Given the description of an element on the screen output the (x, y) to click on. 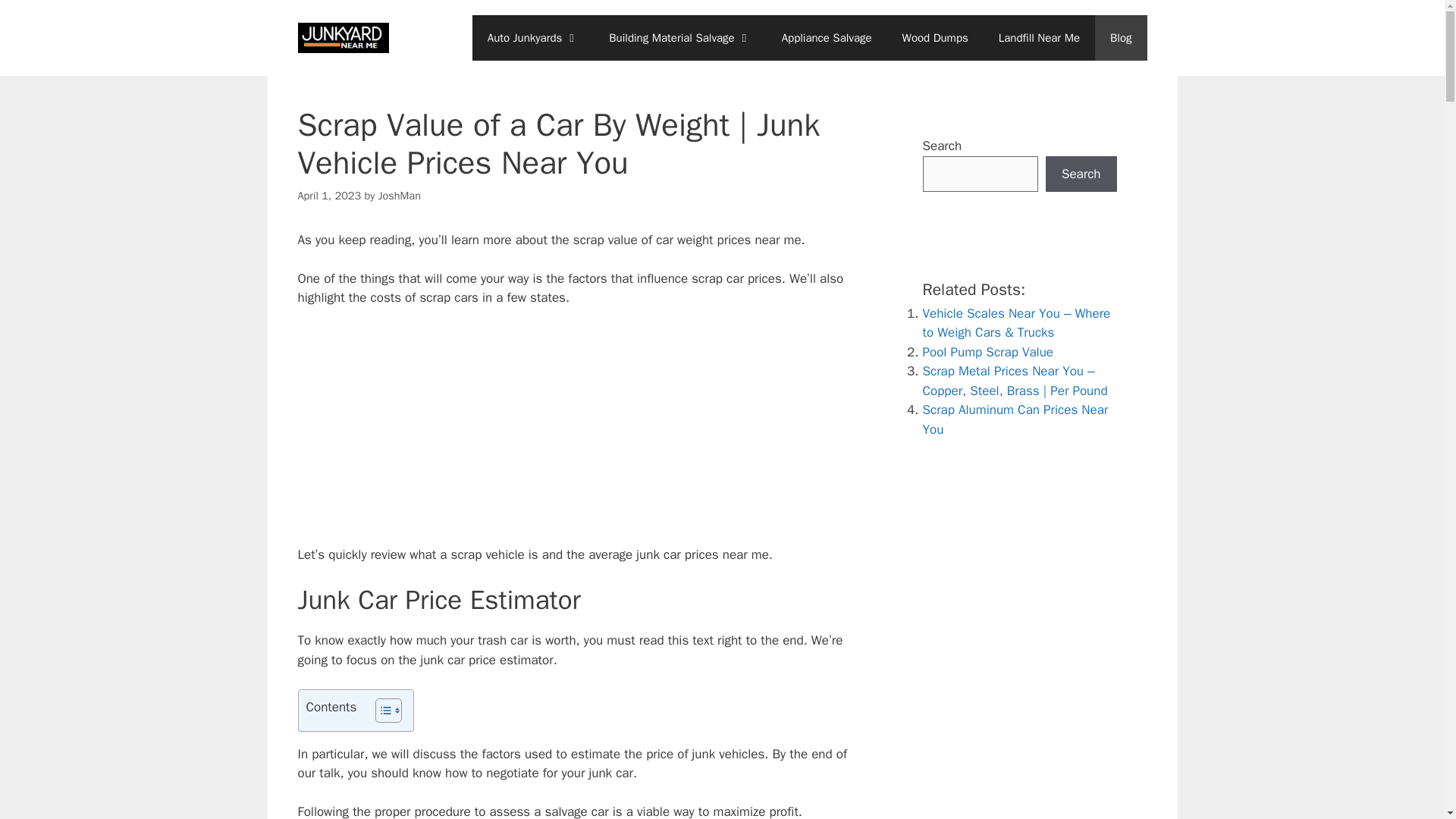
Appliance Salvage (826, 37)
JoshMan (399, 195)
Building Material Salvage (679, 37)
Advertisement (580, 432)
Landfill Near Me (1039, 37)
View all posts by JoshMan (399, 195)
Auto Junkyards (532, 37)
Wood Dumps (935, 37)
Blog (1120, 37)
